Given the description of an element on the screen output the (x, y) to click on. 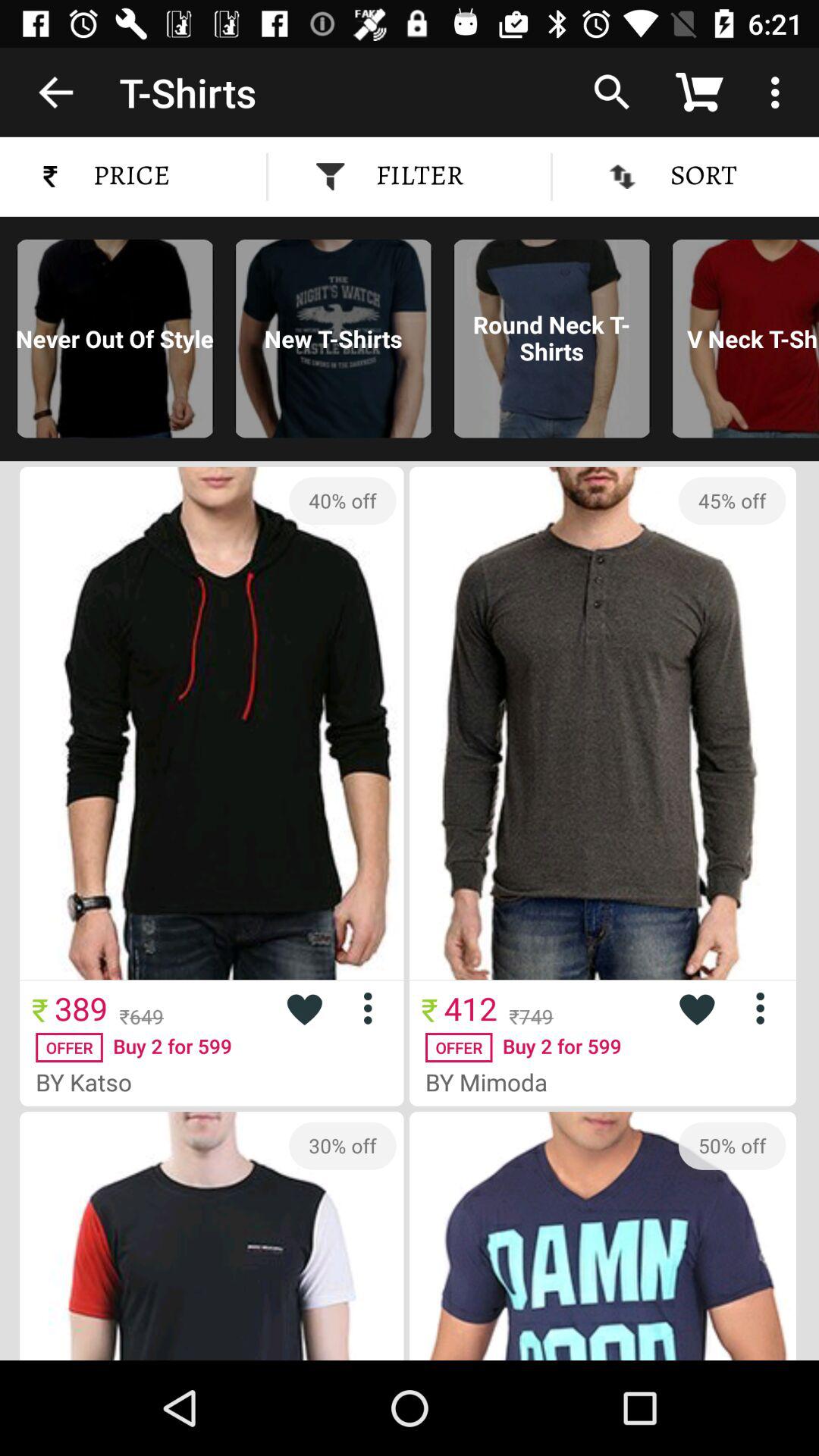
share th like option (696, 1008)
